Given the description of an element on the screen output the (x, y) to click on. 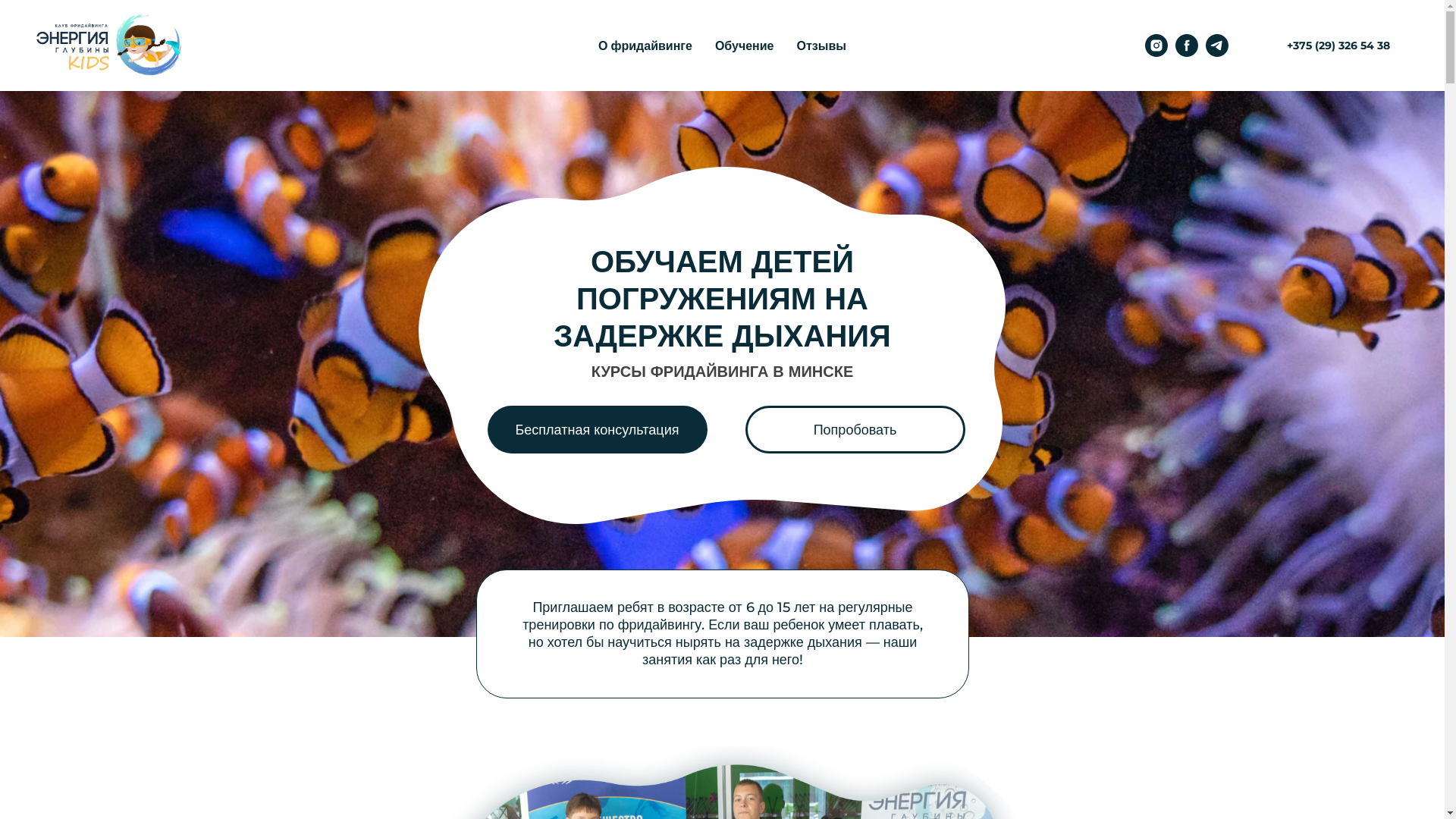
+375 (29) 326 54 38 Element type: text (1338, 45)
